Given the description of an element on the screen output the (x, y) to click on. 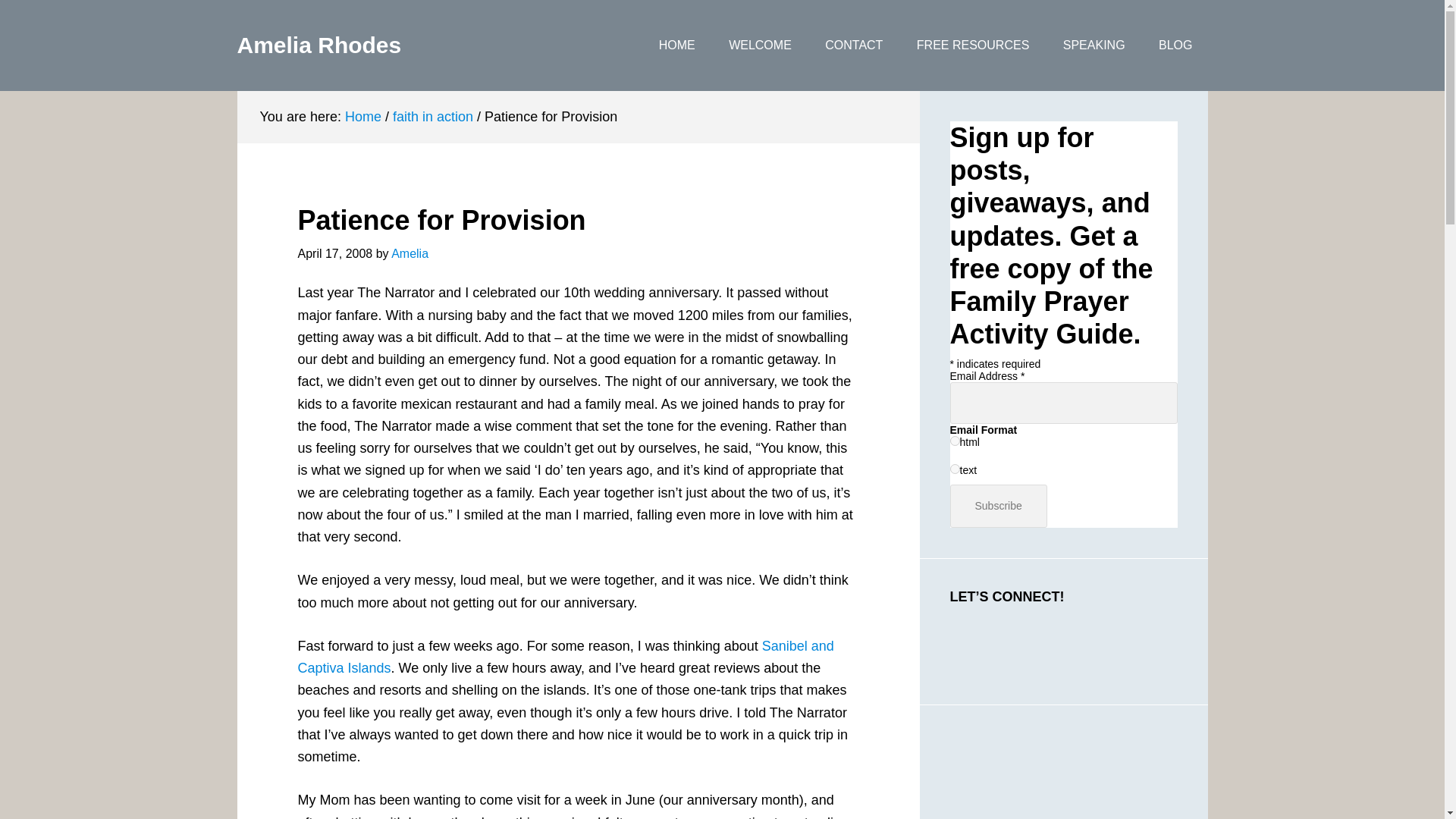
CONTACT (853, 45)
Subscribe (997, 505)
Amelia Rhodes (318, 44)
Amelia (409, 253)
SPEAKING (1094, 45)
Home (363, 116)
faith in action (433, 116)
WELCOME (759, 45)
FREE RESOURCES (972, 45)
Sanibel and Captiva Islands (564, 656)
html (954, 440)
text (954, 469)
Subscribe (997, 505)
